Given the description of an element on the screen output the (x, y) to click on. 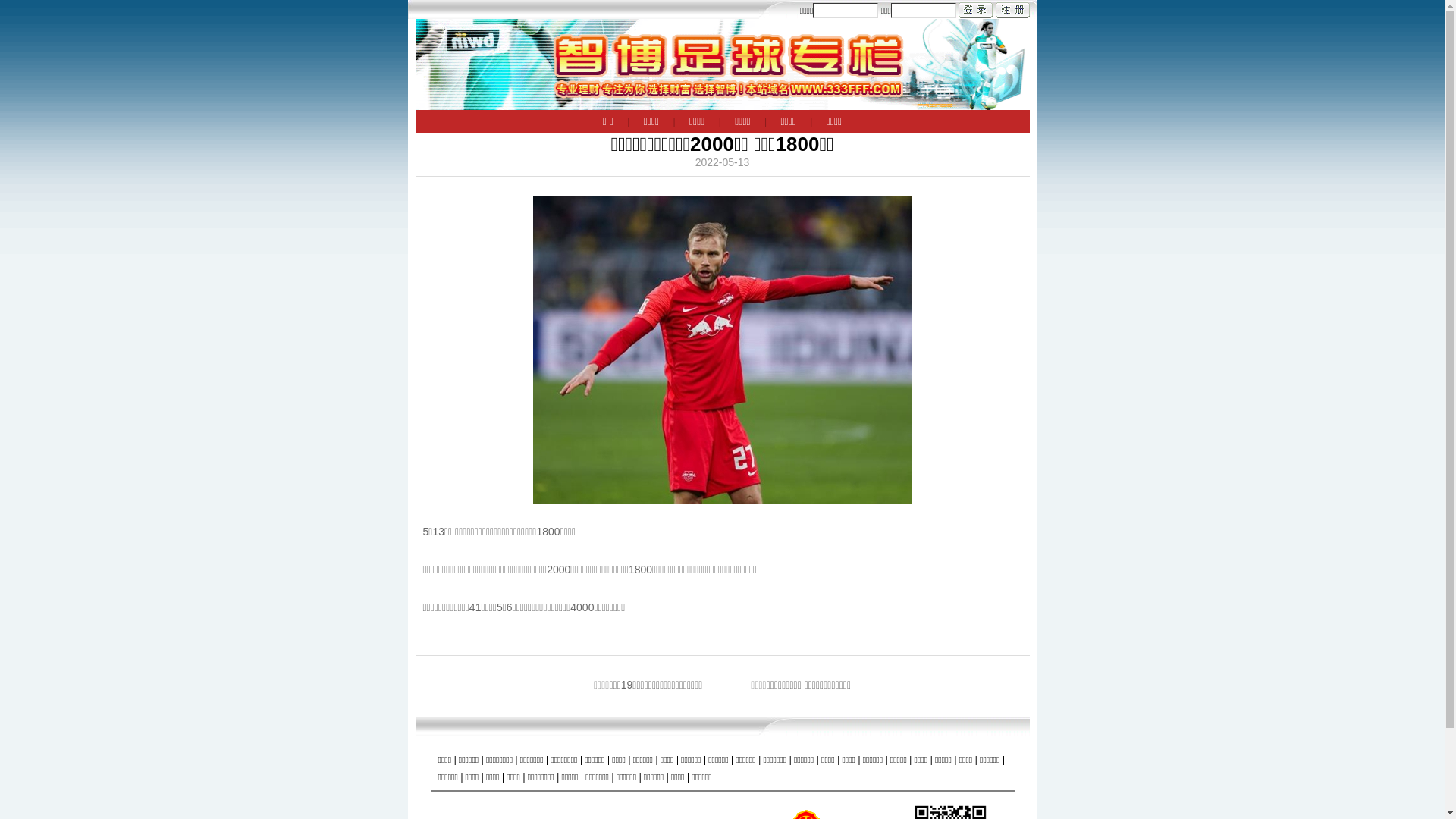
  Element type: text (975, 10)
  Element type: text (1011, 10)
